Given the description of an element on the screen output the (x, y) to click on. 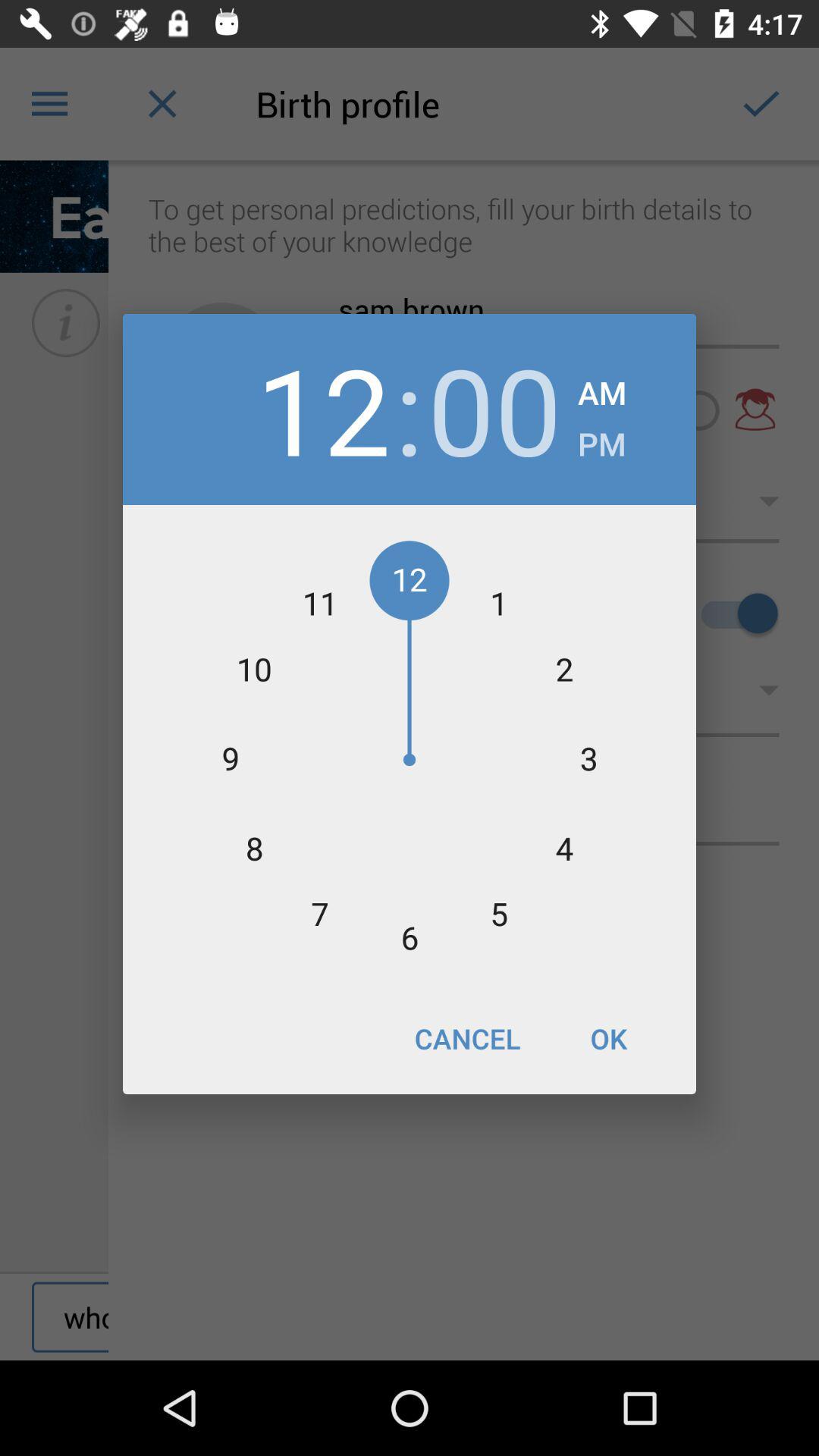
scroll to the 00 icon (494, 408)
